Given the description of an element on the screen output the (x, y) to click on. 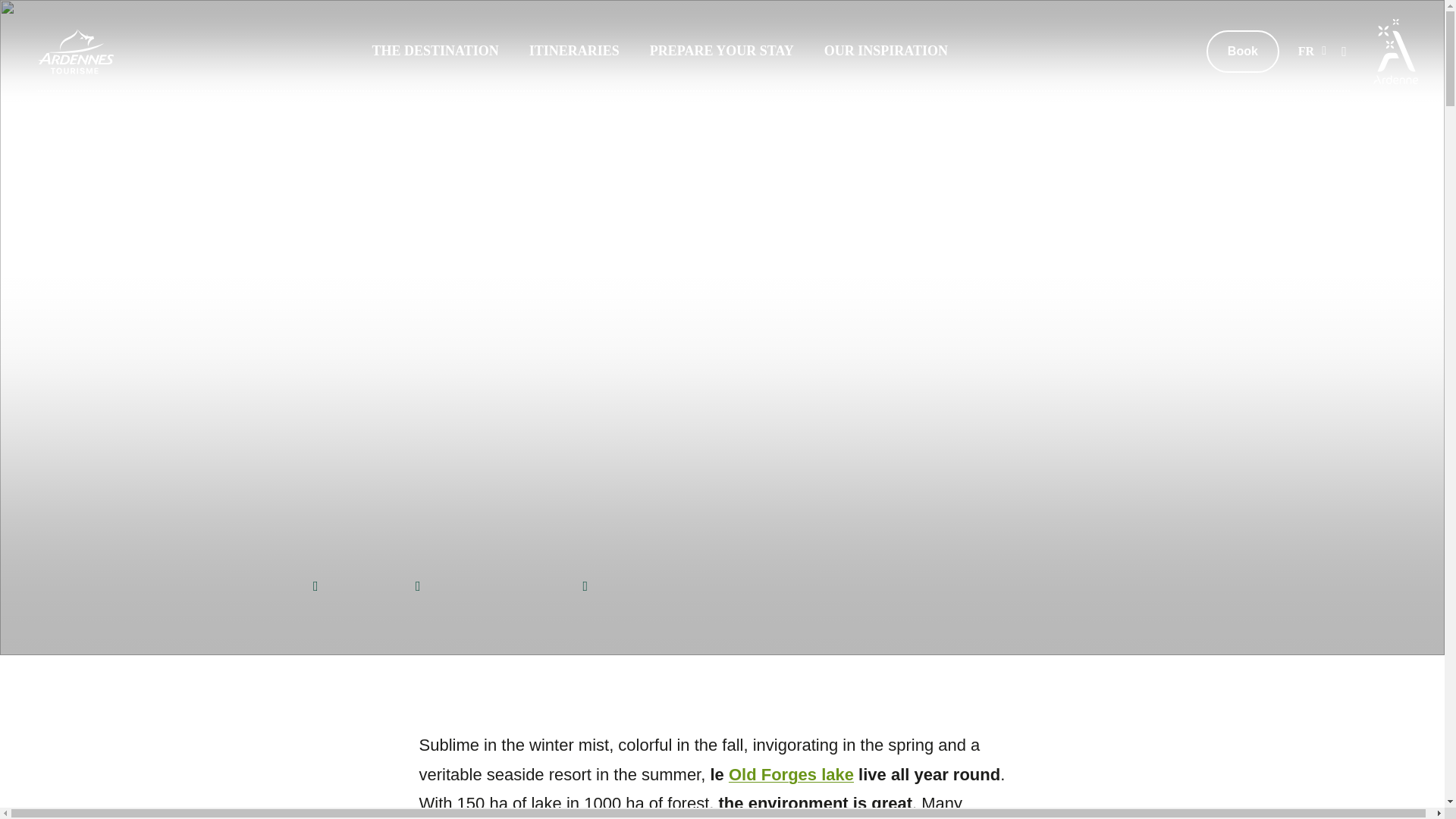
Ardennes ADT (75, 51)
ITINERARIES (574, 50)
PREPARE YOUR STAY (721, 50)
THE DESTINATION (435, 50)
